Given the description of an element on the screen output the (x, y) to click on. 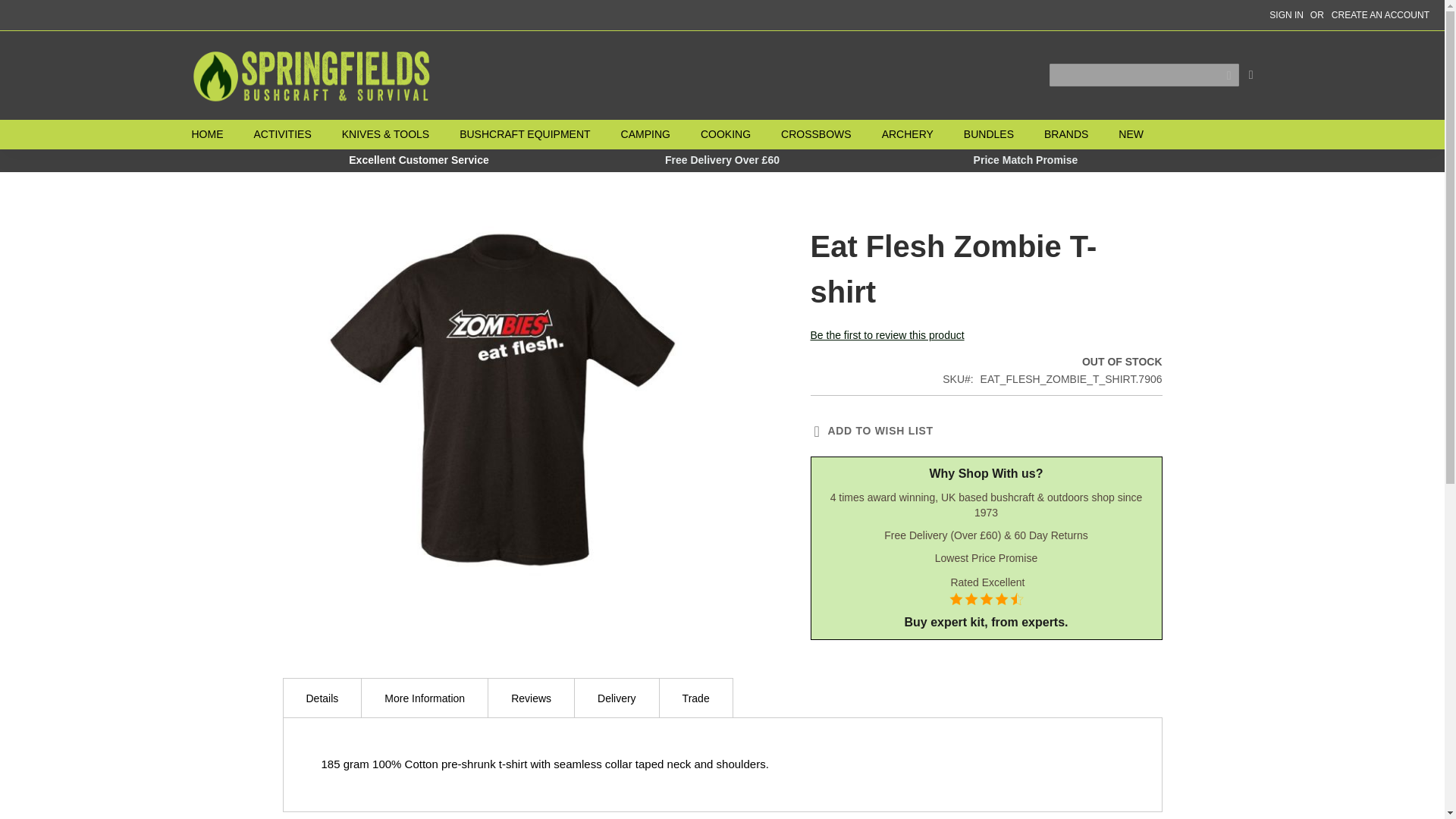
Availability (1051, 362)
HOME (214, 134)
SIGN IN (1286, 15)
ACTIVITIES (282, 134)
CREATE AN ACCOUNT (1380, 15)
